Given the description of an element on the screen output the (x, y) to click on. 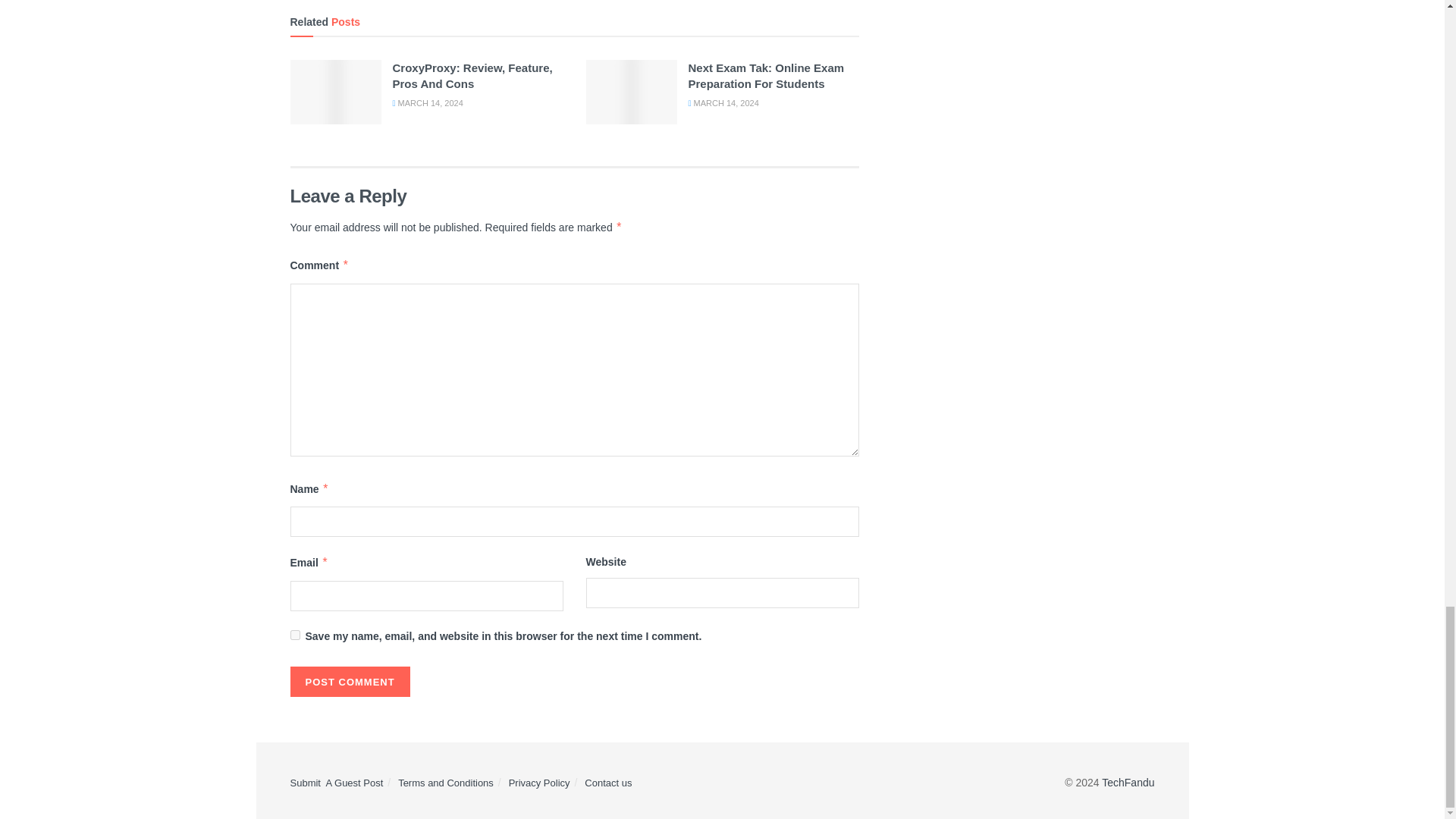
yes (294, 634)
Post Comment (349, 681)
TechFandu (1128, 782)
